Given the description of an element on the screen output the (x, y) to click on. 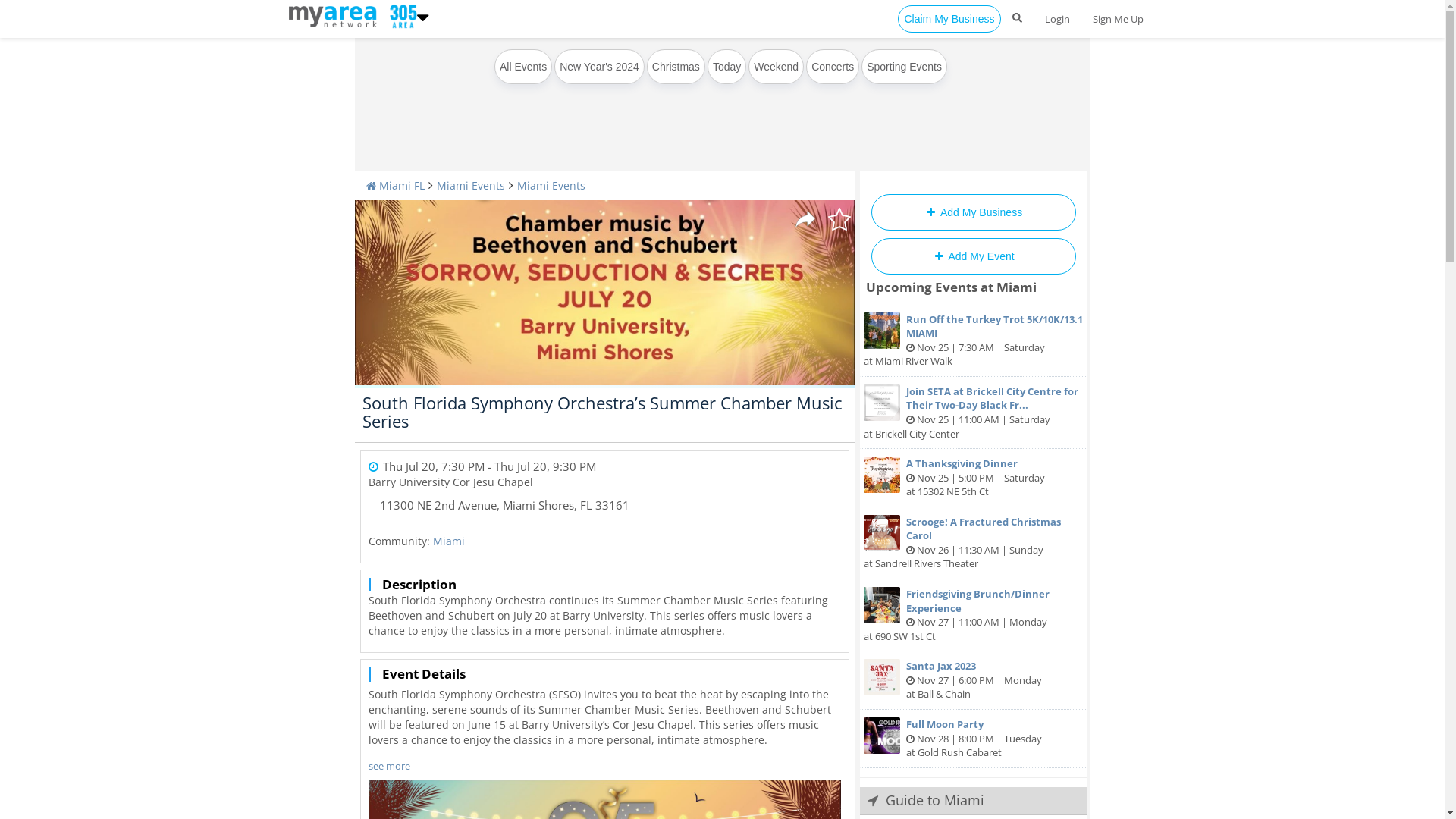
Add My Event Element type: text (972, 256)
Miami Element type: text (448, 540)
Login Element type: text (1056, 18)
All Events Element type: text (523, 66)
Miami Events Element type: text (470, 185)
Upcoming Events at Miami Element type: text (951, 286)
Santa Jax 2023
Nov 27 | 6:00 PM | Monday
at Ball & Chain Element type: text (973, 680)
New Year's 2024 Element type: text (599, 66)
https://www.305area.com Element type: hover (335, 15)
Miami FL Element type: text (394, 185)
Sporting Events Element type: text (904, 66)
Claim My Business Element type: text (948, 18)
Add My Business Element type: text (972, 212)
https://www.305area.com Element type: hover (400, 15)
Concerts Element type: text (832, 66)
see more Element type: text (389, 766)
Today Element type: text (726, 66)
Sign Me Up Element type: text (1117, 18)
Christmas Element type: text (675, 66)
Weekend Element type: text (775, 66)
Miami Events Element type: text (551, 185)
